Given the description of an element on the screen output the (x, y) to click on. 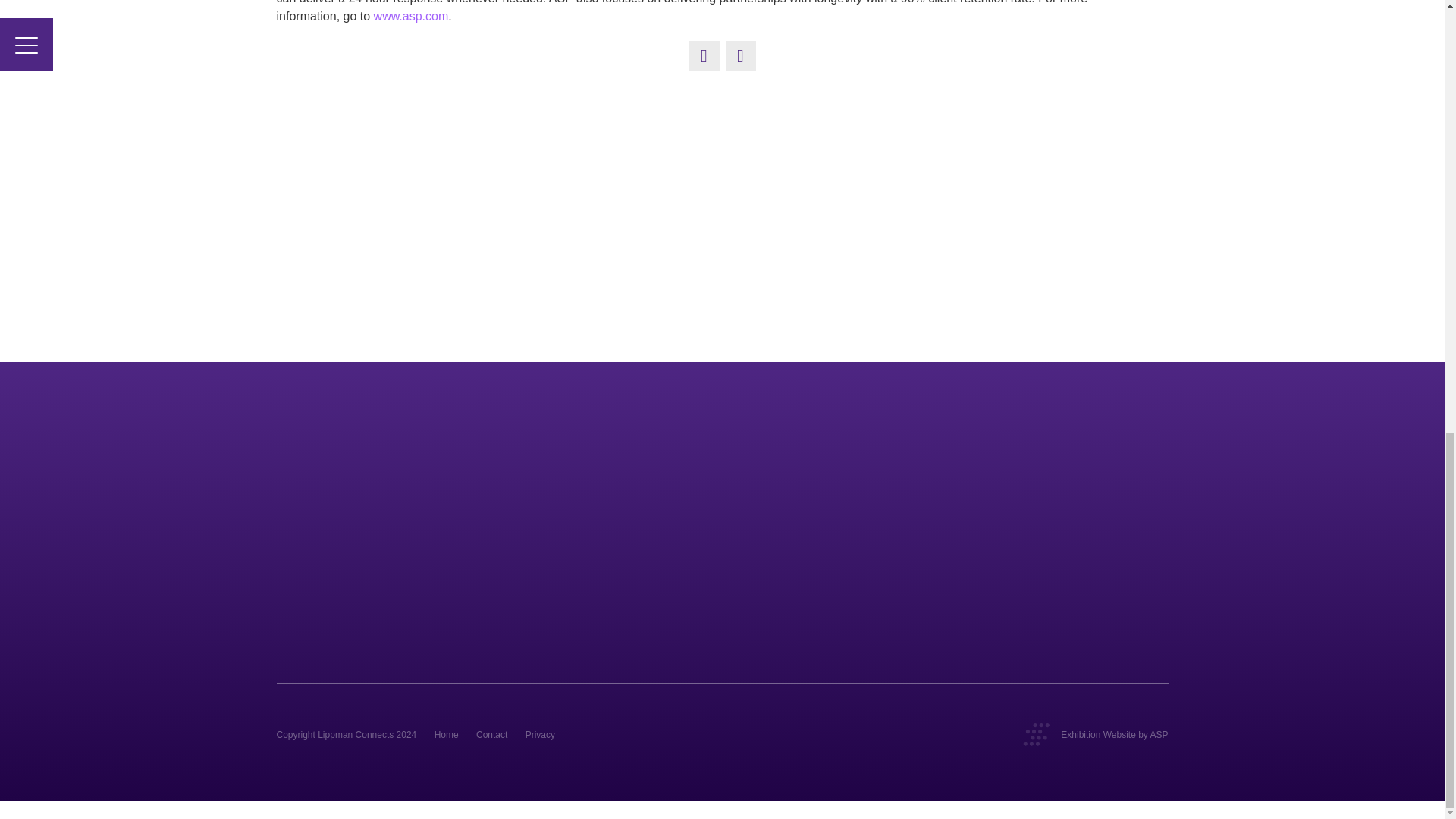
www.asp.com (411, 15)
